Given the description of an element on the screen output the (x, y) to click on. 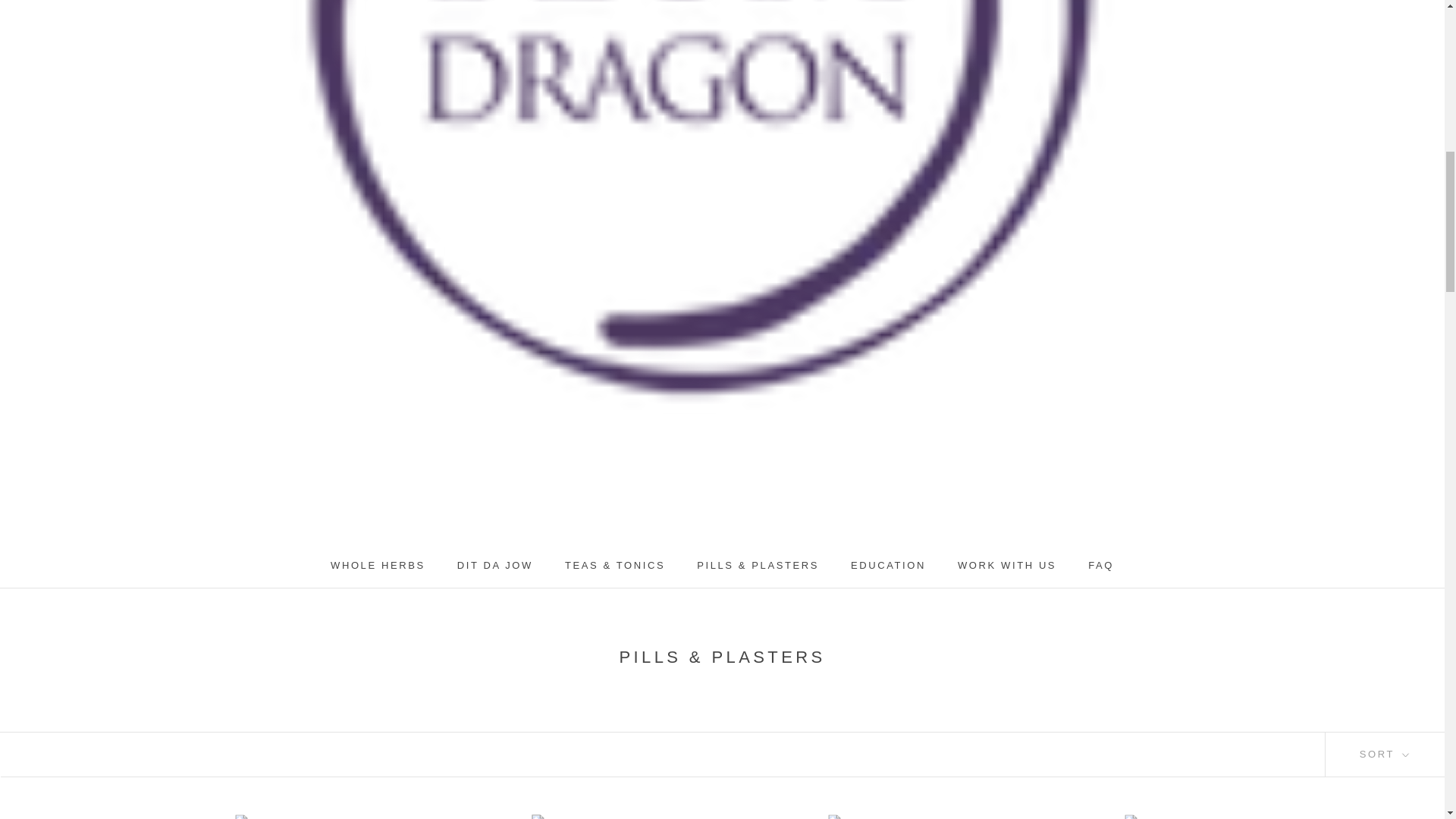
WHOLE HERBS (377, 564)
